Given the description of an element on the screen output the (x, y) to click on. 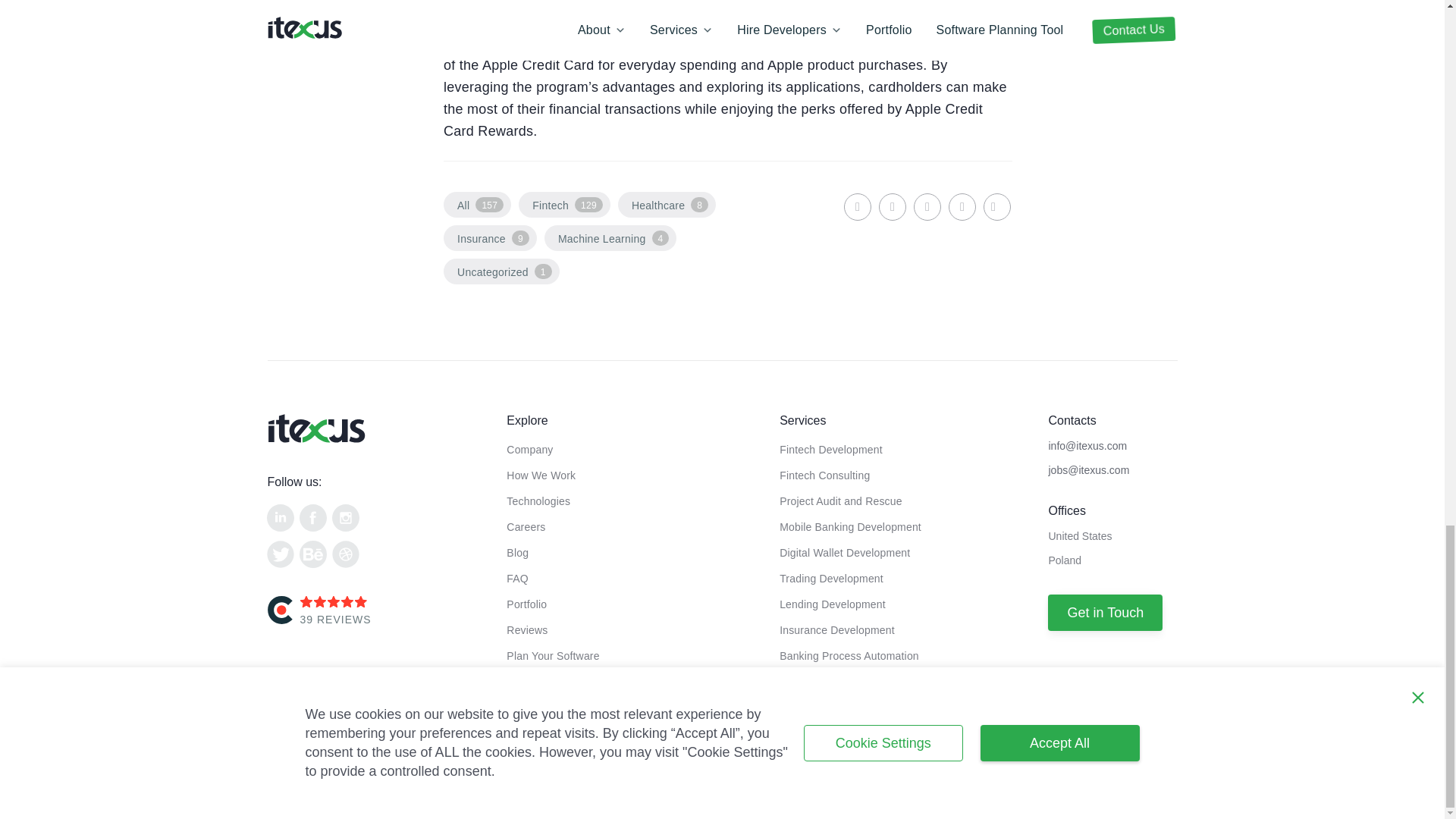
Share in Twitter (927, 206)
Copy to Clipboard (997, 206)
Share in Reddit (962, 206)
Share in Facebook (892, 206)
Share in Linkedin (857, 206)
